Given the description of an element on the screen output the (x, y) to click on. 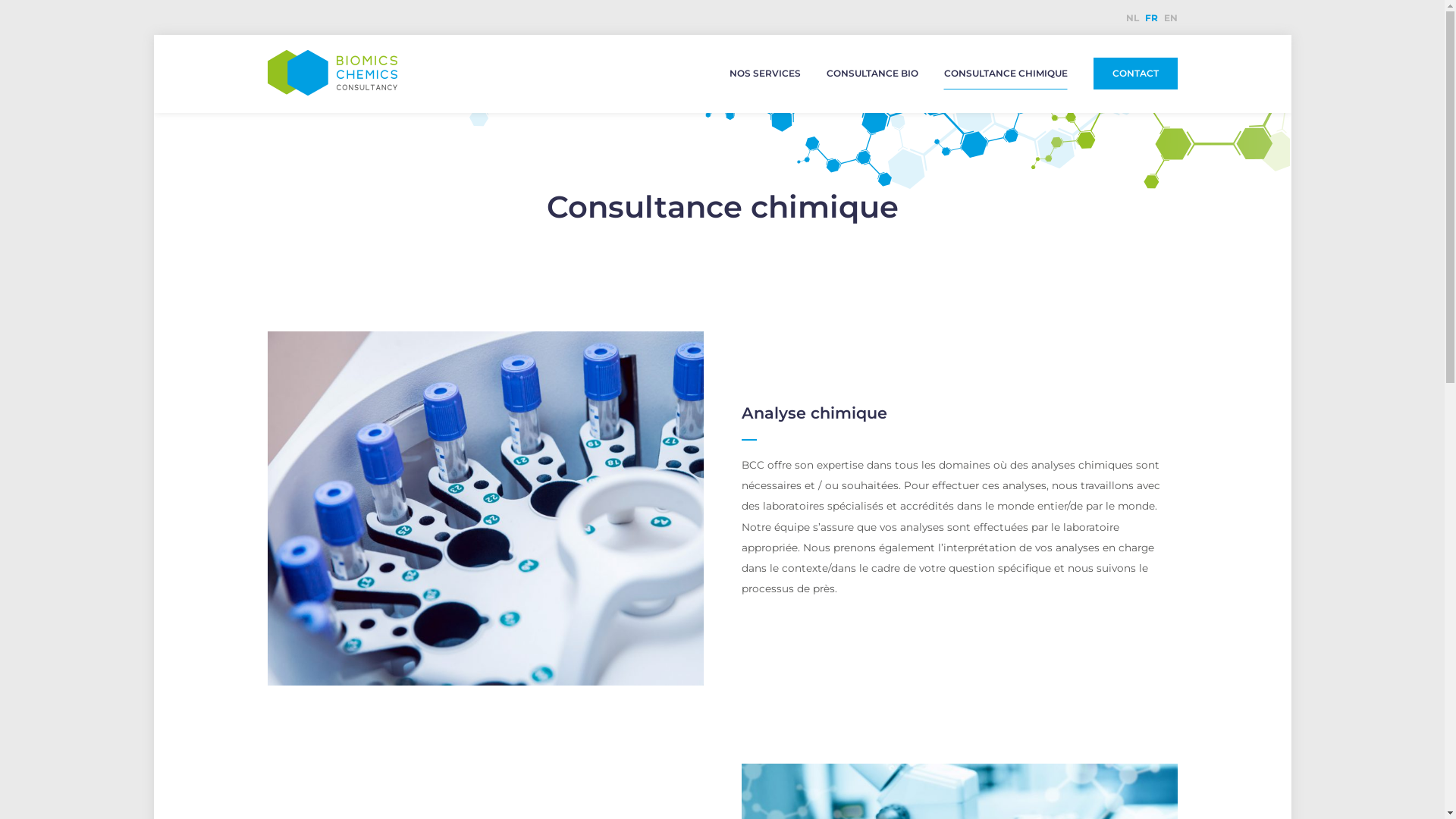
NOS SERVICES Element type: text (764, 73)
CONSULTANCE BIO Element type: text (872, 73)
CONTACT Element type: text (1135, 73)
FR Element type: text (1151, 17)
NL Element type: text (1131, 17)
EN Element type: text (1169, 17)
CONSULTANCE CHIMIQUE Element type: text (1004, 73)
